Given the description of an element on the screen output the (x, y) to click on. 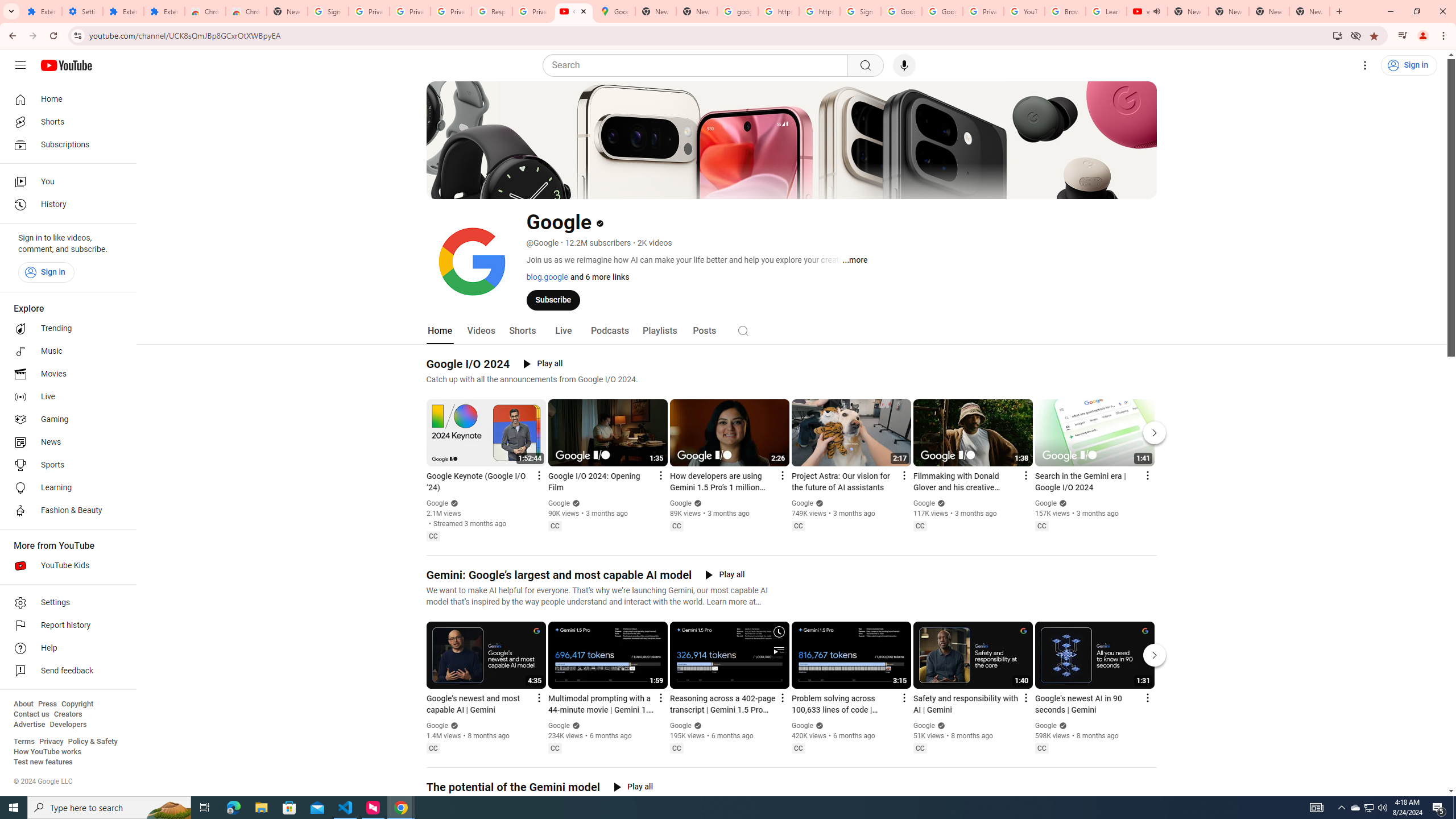
New Tab (1338, 11)
How YouTube works (47, 751)
Creators (67, 714)
YouTube Home (66, 65)
You (1422, 35)
Forward (32, 35)
Chrome Web Store (205, 11)
Playlists (659, 330)
Back (10, 35)
Press (46, 703)
Advertise (29, 724)
Gaming (64, 419)
New Tab (1309, 11)
